Given the description of an element on the screen output the (x, y) to click on. 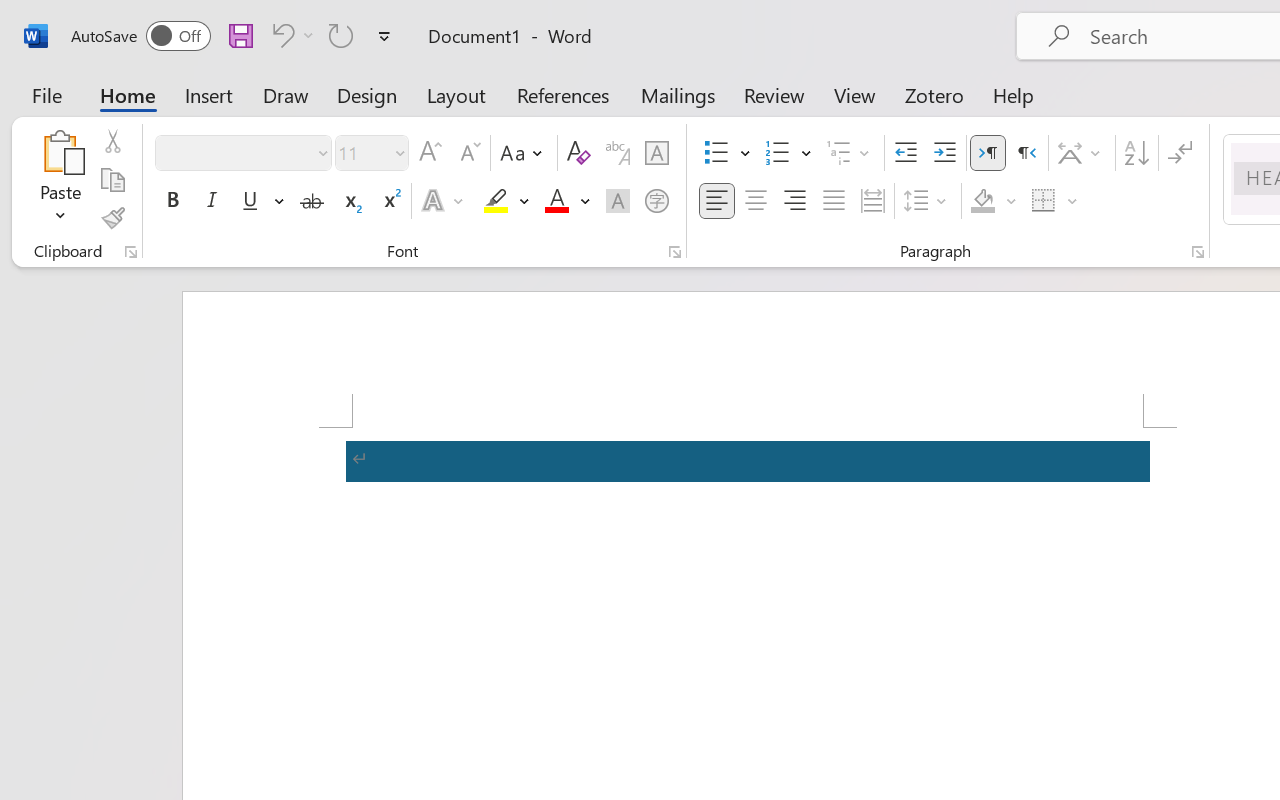
Repeat Accessibility Checker (341, 35)
